Given the description of an element on the screen output the (x, y) to click on. 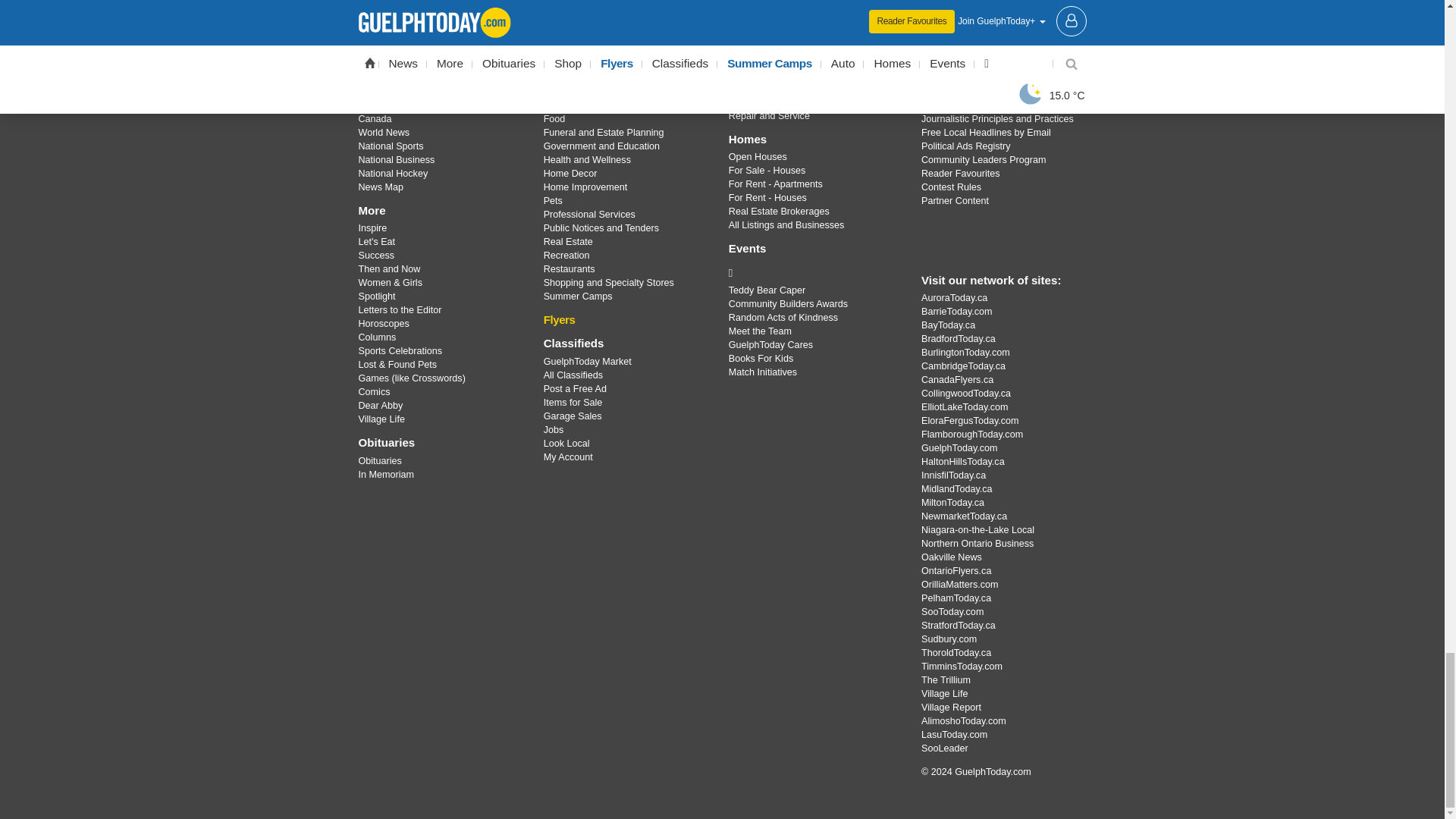
GuelphToday Cares (813, 272)
